Given the description of an element on the screen output the (x, y) to click on. 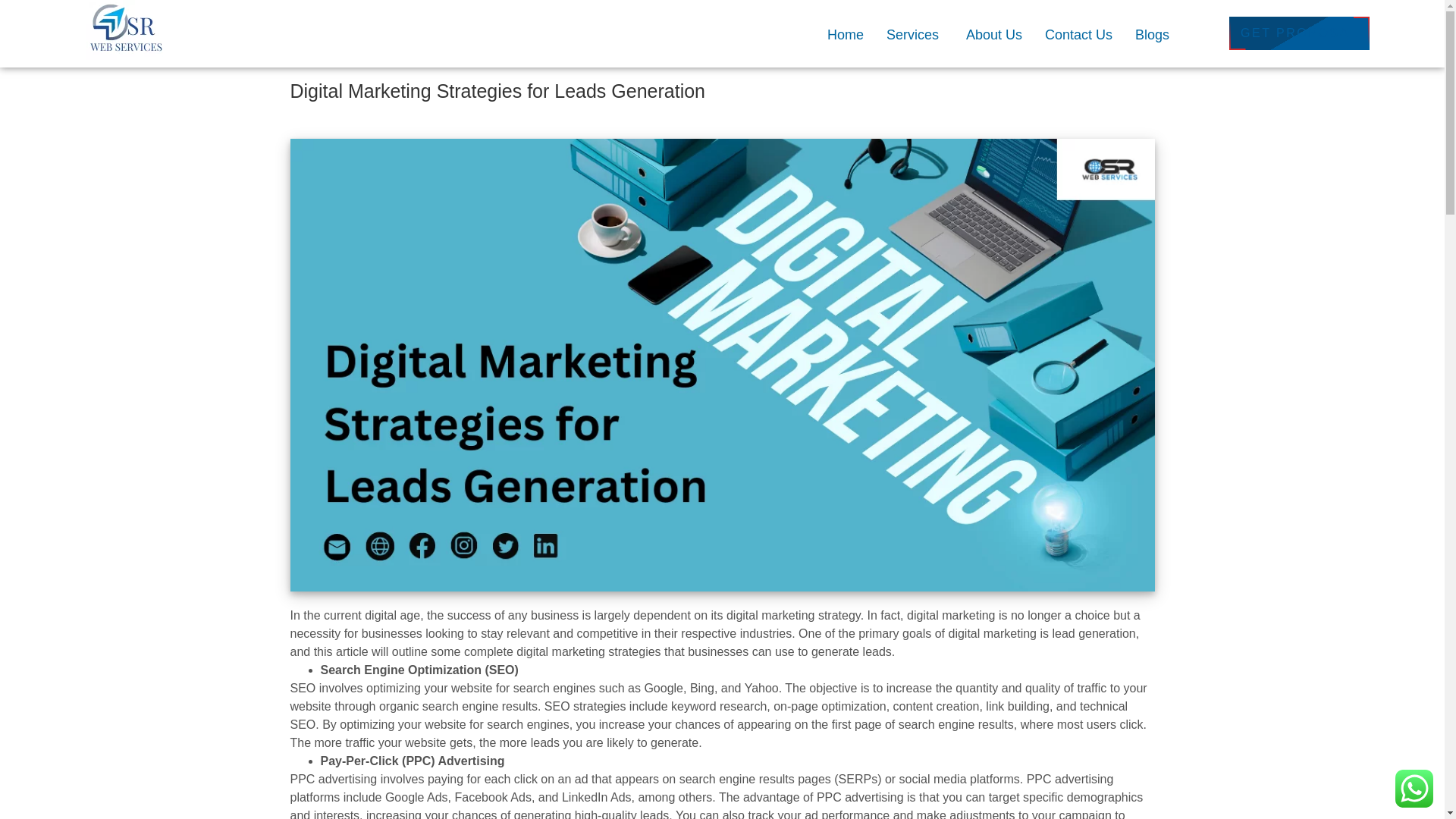
Home (844, 34)
GET PROPOSAL (1299, 32)
Contact Us (1077, 34)
Services (914, 34)
About Us (993, 34)
Copy of OSR Logo (124, 33)
Blogs (1151, 34)
